Given the description of an element on the screen output the (x, y) to click on. 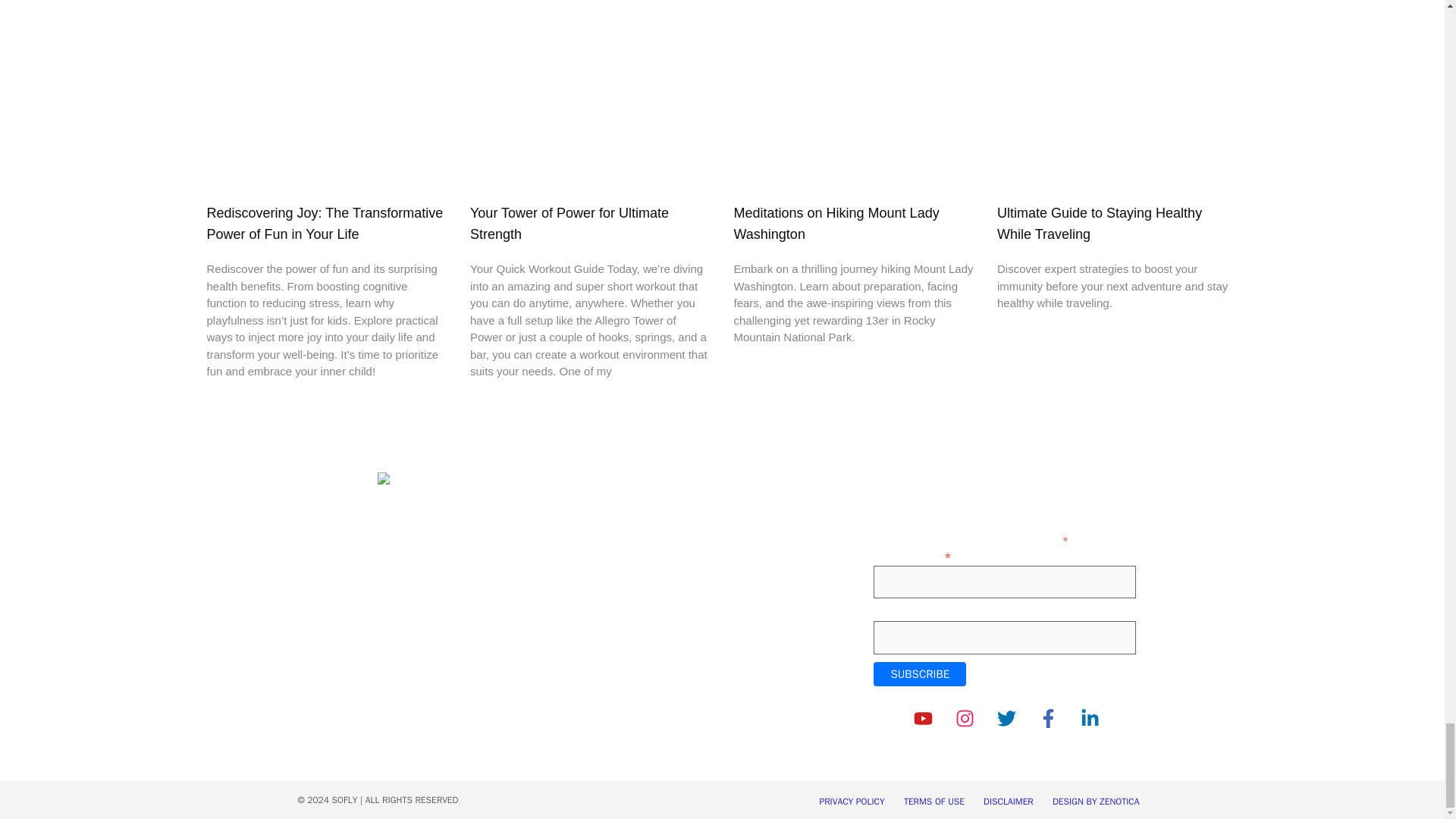
About (625, 511)
The SOFLY METHOD (659, 562)
Torreys Peak (641, 543)
Ultimate Guide to Staying Healthy While Traveling (1099, 223)
Your Tower of Power for Ultimate Strength (569, 223)
Photo Gallery (643, 527)
Meditations on Hiking Mount Lady Washington (836, 223)
Subscribe (919, 673)
